Given the description of an element on the screen output the (x, y) to click on. 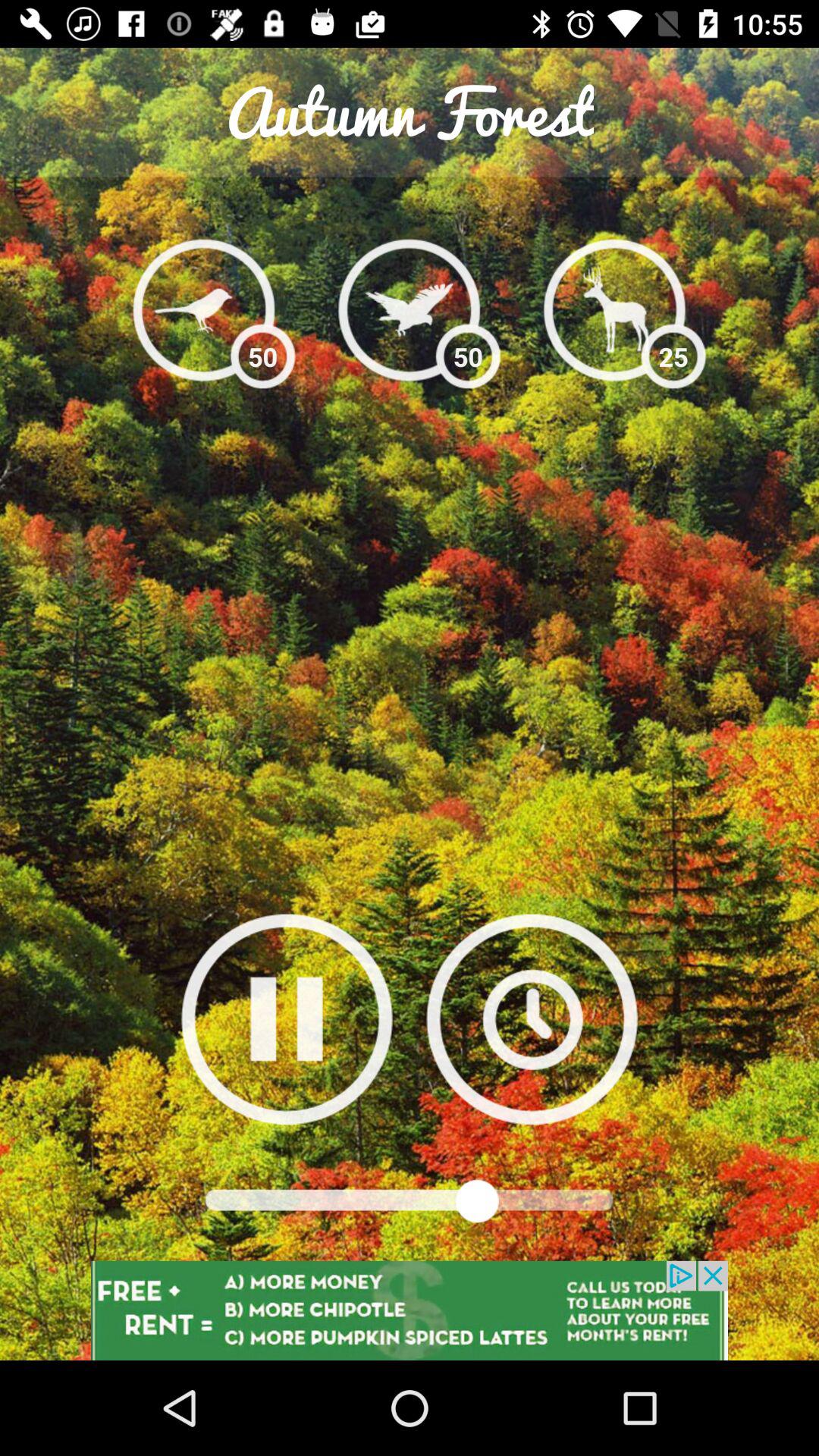
mammal name (408, 309)
